Given the description of an element on the screen output the (x, y) to click on. 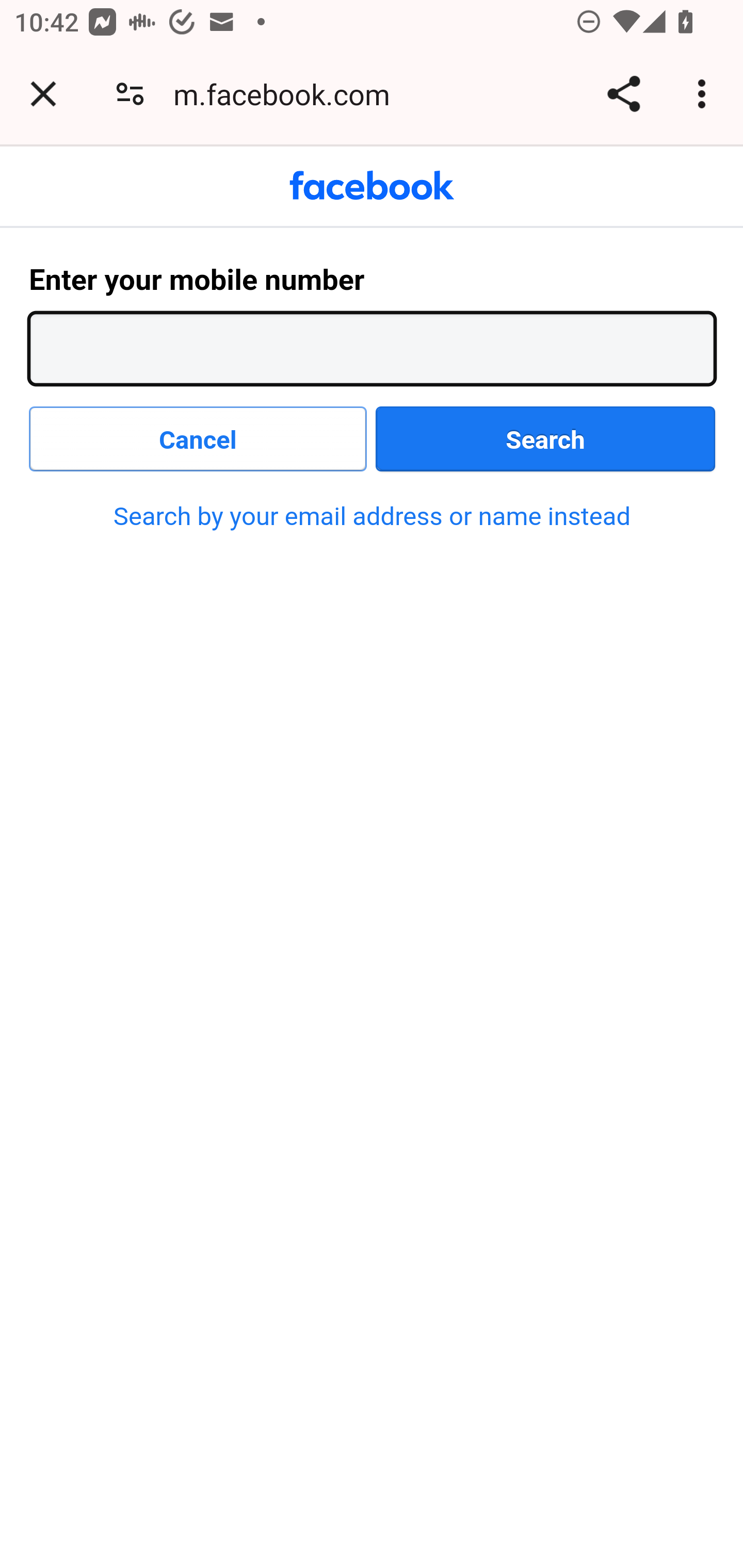
Close tab (43, 93)
Share (623, 93)
Customize and control Google Chrome (705, 93)
Connection is secure (129, 93)
m.facebook.com (288, 93)
Facebook (371, 185)
Cancel (198, 438)
Search (545, 438)
Search by your email address or name instead (372, 515)
